Given the description of an element on the screen output the (x, y) to click on. 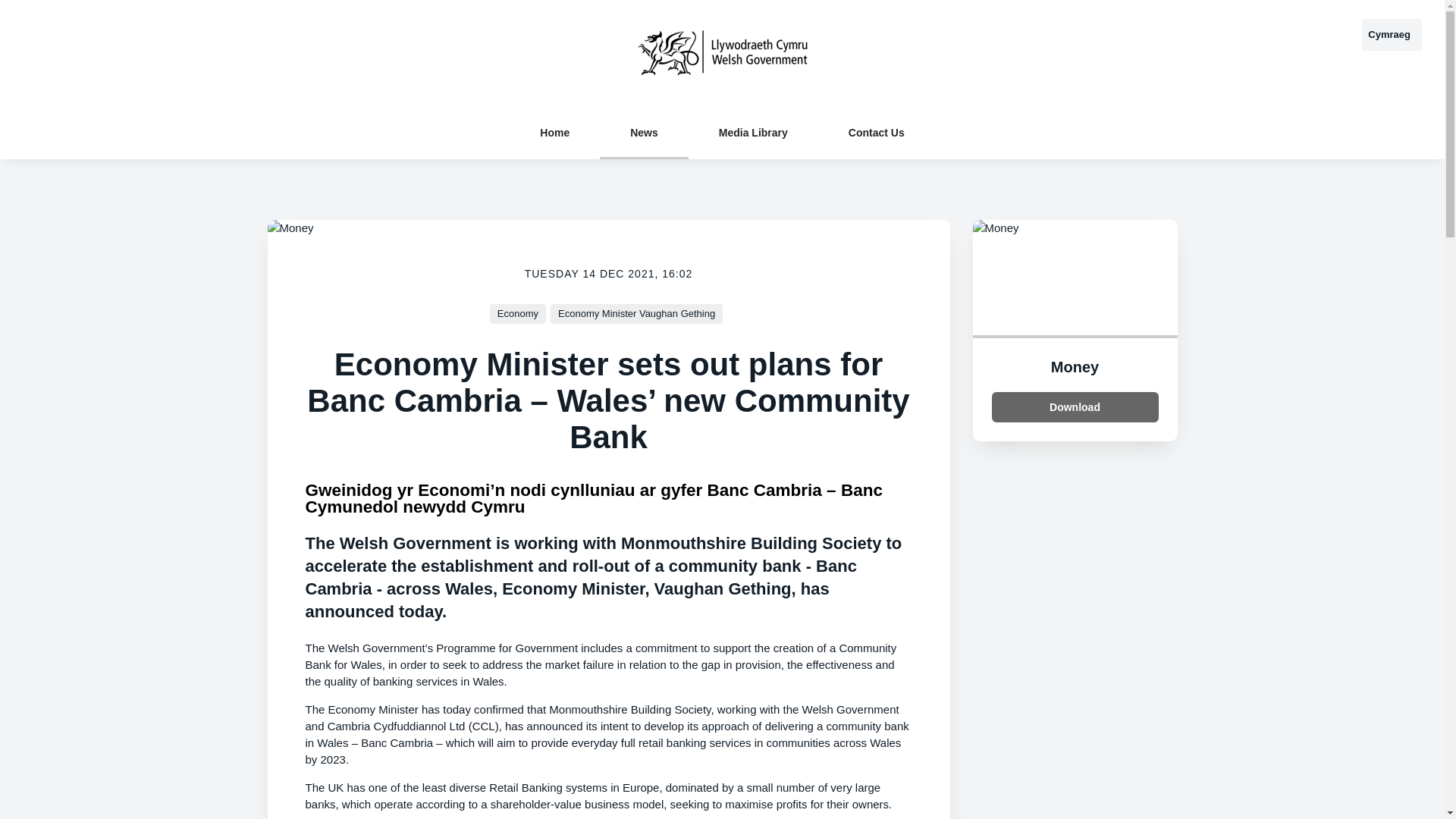
News (643, 132)
Media Library (753, 132)
Cymraeg (1391, 34)
Money (1075, 366)
Economy Minister Vaughan Gething (636, 313)
Download (1074, 407)
Cymraeg (1391, 34)
Economy (517, 313)
Home (554, 132)
Contact Us (876, 132)
